Given the description of an element on the screen output the (x, y) to click on. 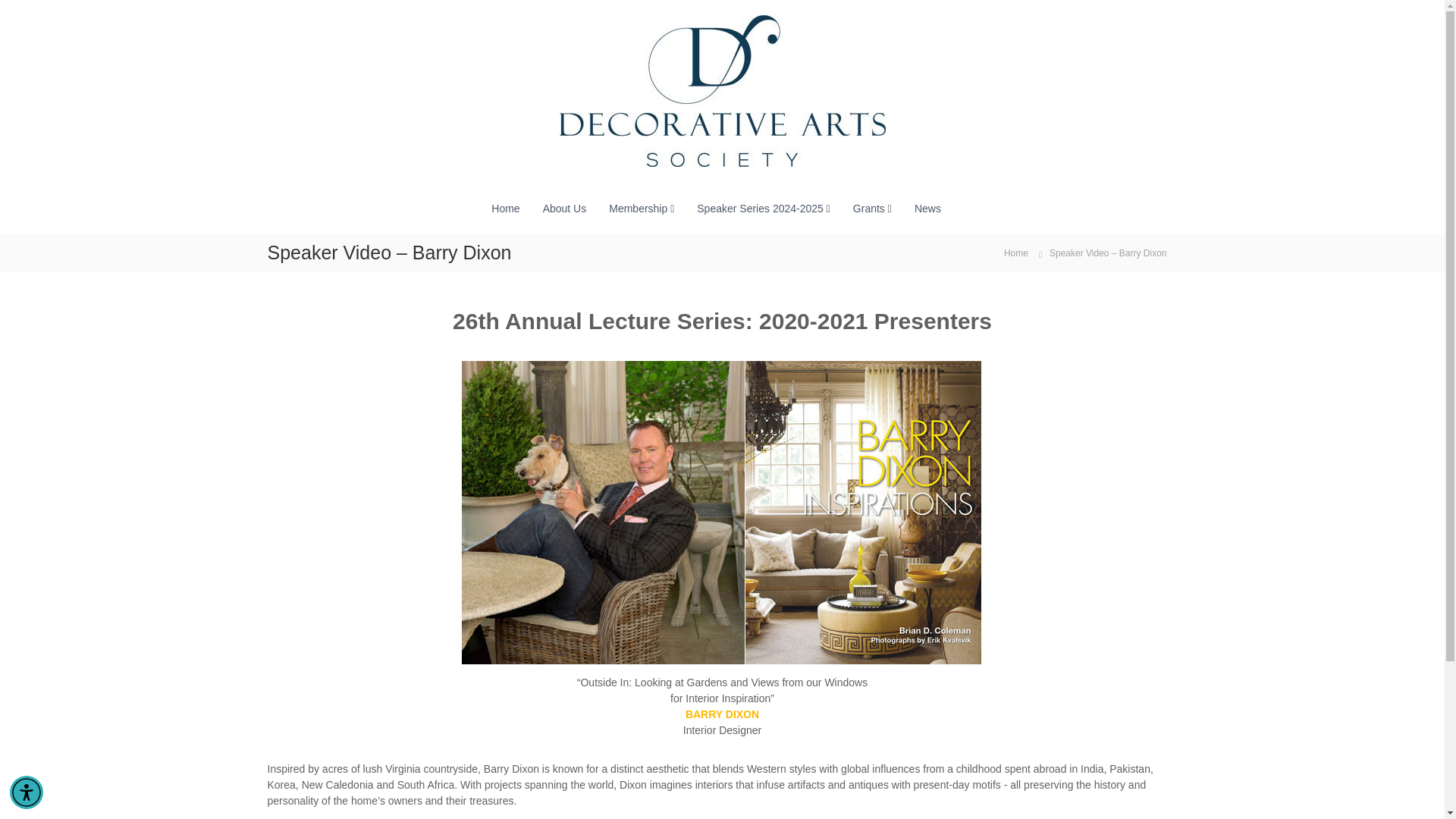
Accessibility Menu (26, 792)
Grants (869, 208)
News (927, 208)
Membership (637, 208)
Home (1015, 252)
Speaker Series 2024-2025 (760, 208)
About Us (564, 208)
Home (1015, 252)
Home (505, 208)
